Given the description of an element on the screen output the (x, y) to click on. 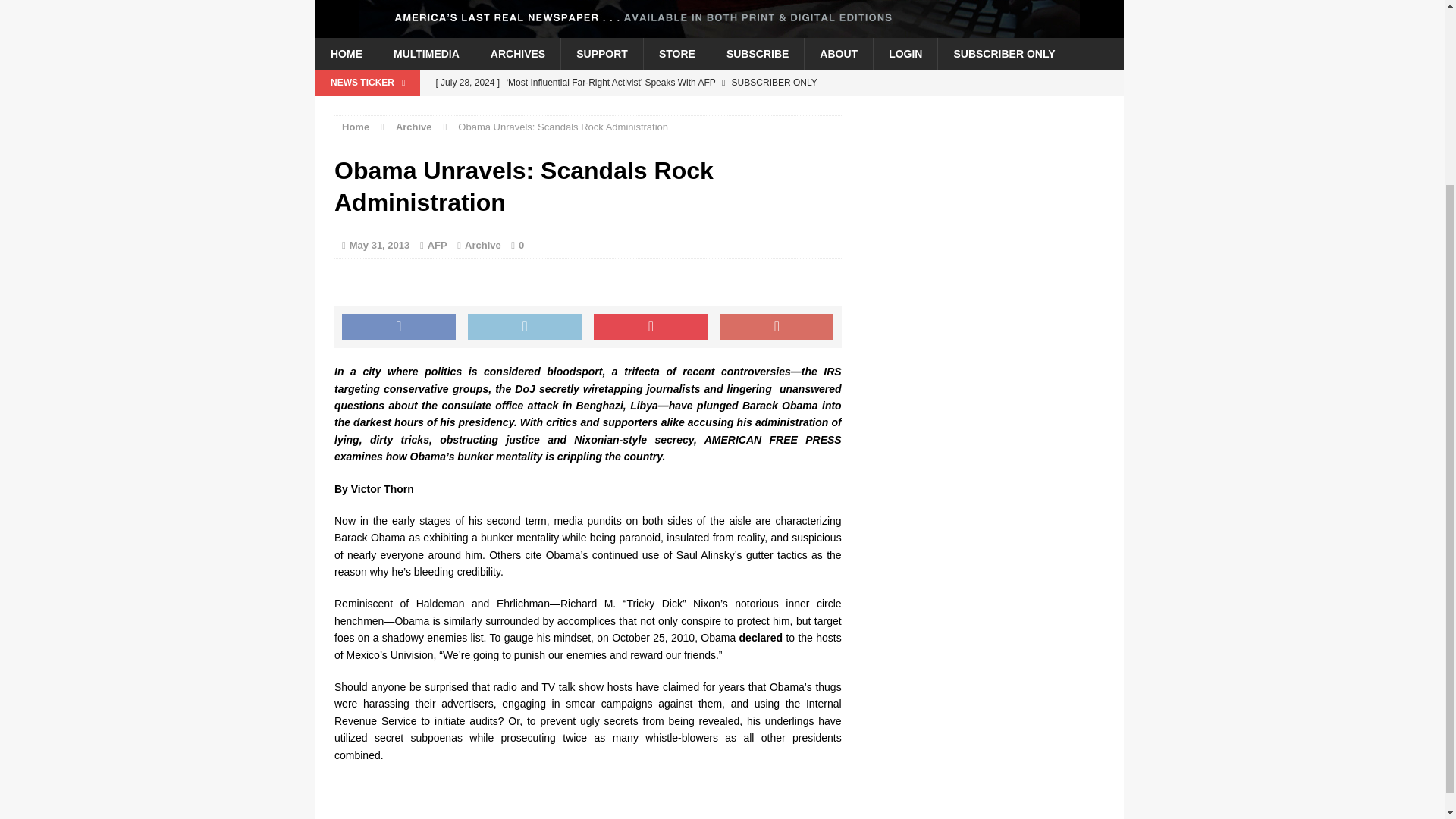
May 31, 2013 (379, 244)
LOGIN (904, 53)
Pin This Post (650, 327)
Share on Facebook (398, 327)
declared (761, 637)
SUBSCRIBER ONLY (1003, 53)
SUBSCRIBE (756, 53)
AFP (437, 244)
ARCHIVES (517, 53)
Tweet This Post (523, 327)
Archive (482, 244)
HOME (346, 53)
STORE (676, 53)
Will Republicans Turn the Lawfare Tables on Dems? (633, 108)
American Free Press (719, 18)
